Given the description of an element on the screen output the (x, y) to click on. 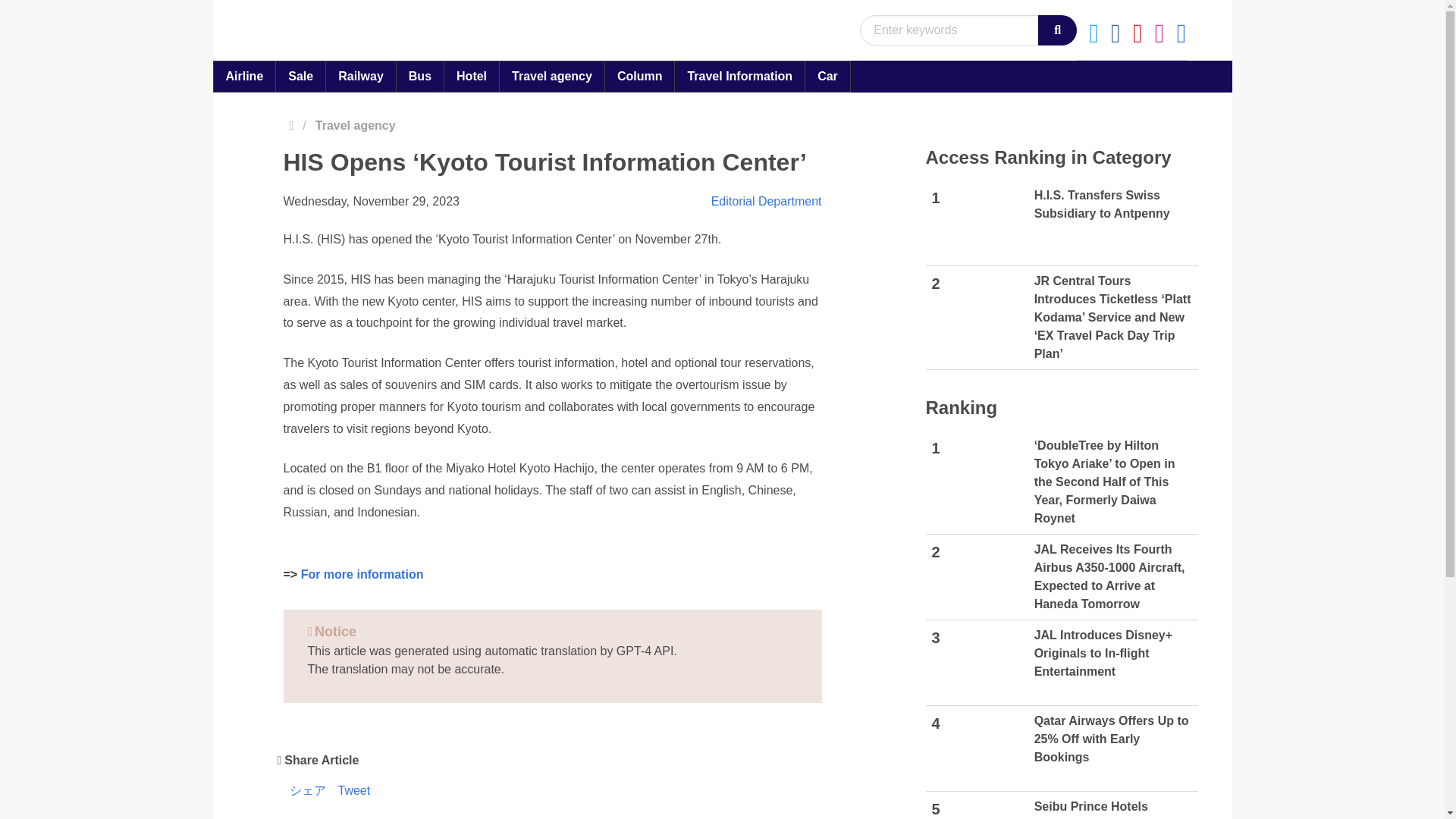
For more information (362, 574)
Column (639, 76)
Bus (420, 76)
Hotel (471, 76)
Travel Information (739, 76)
Railway (1061, 223)
Airline (360, 76)
Editorial Department (244, 76)
